Given the description of an element on the screen output the (x, y) to click on. 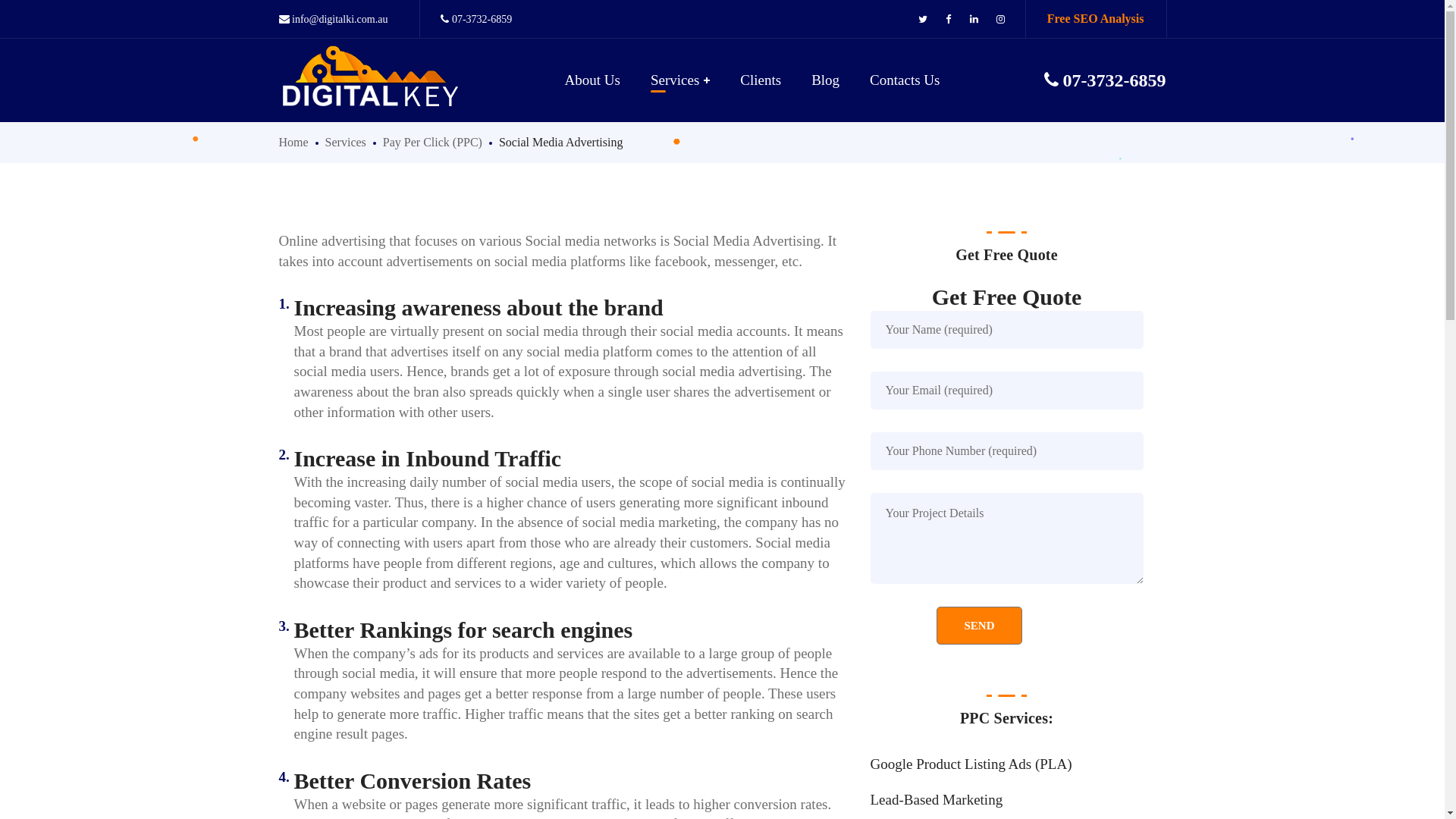
07-3732-6859 Element type: text (1104, 79)
Free SEO Analysis Element type: text (1095, 18)
Services Element type: text (345, 141)
Lead-Based Marketing Element type: text (1006, 800)
Clients Element type: text (760, 80)
Contacts Us Element type: text (904, 80)
Send Element type: text (978, 625)
info@digitalki.com.au Element type: text (333, 19)
Home Element type: text (293, 141)
About Us Element type: text (592, 80)
Google Product Listing Ads (PLA) Element type: text (1006, 764)
Pay Per Click (PPC) Element type: text (432, 141)
Services Element type: text (679, 80)
07-3732-6859 Element type: text (475, 19)
Blog Element type: text (825, 80)
